Given the description of an element on the screen output the (x, y) to click on. 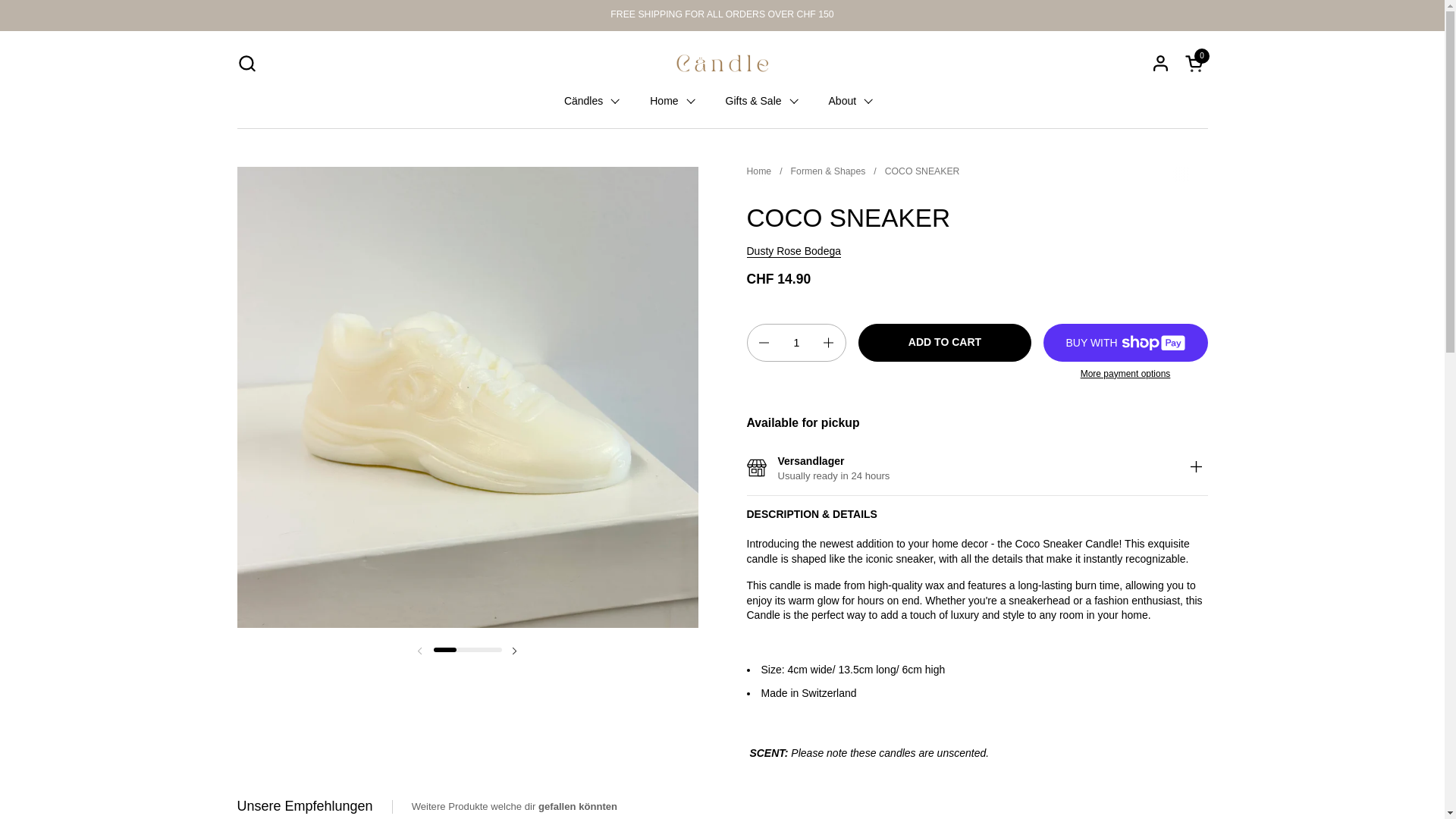
Dusty Rose Bodega (793, 250)
Home (672, 100)
About (850, 100)
Open search (245, 63)
Open cart (1196, 63)
